Given the description of an element on the screen output the (x, y) to click on. 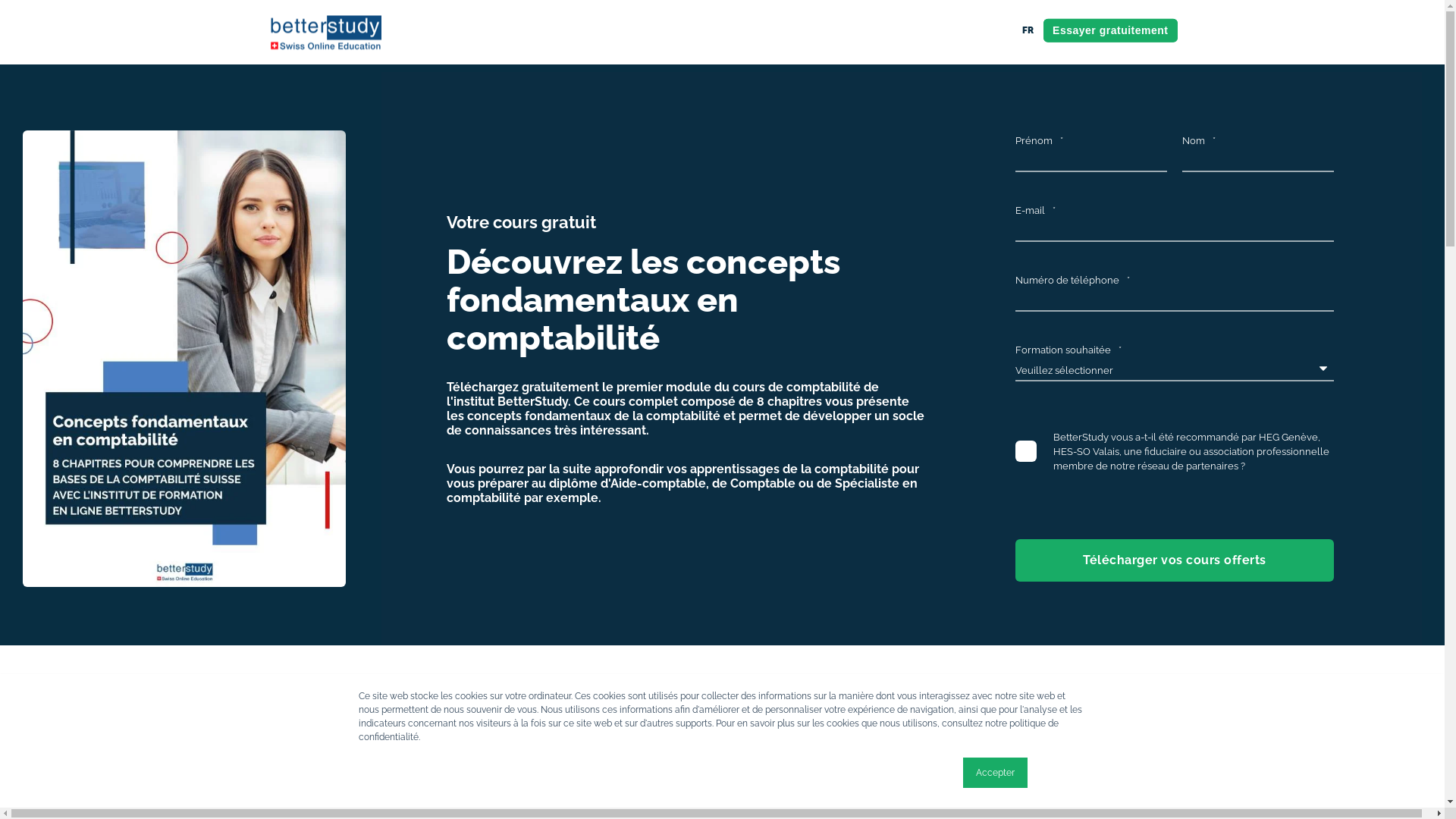
logo Element type: hover (323, 32)
Couverture-ebook-cours-comptabilite Element type: hover (183, 358)
FR Element type: text (1027, 30)
Accepter Element type: text (995, 772)
Essayer gratuitement Element type: text (1109, 30)
